Given the description of an element on the screen output the (x, y) to click on. 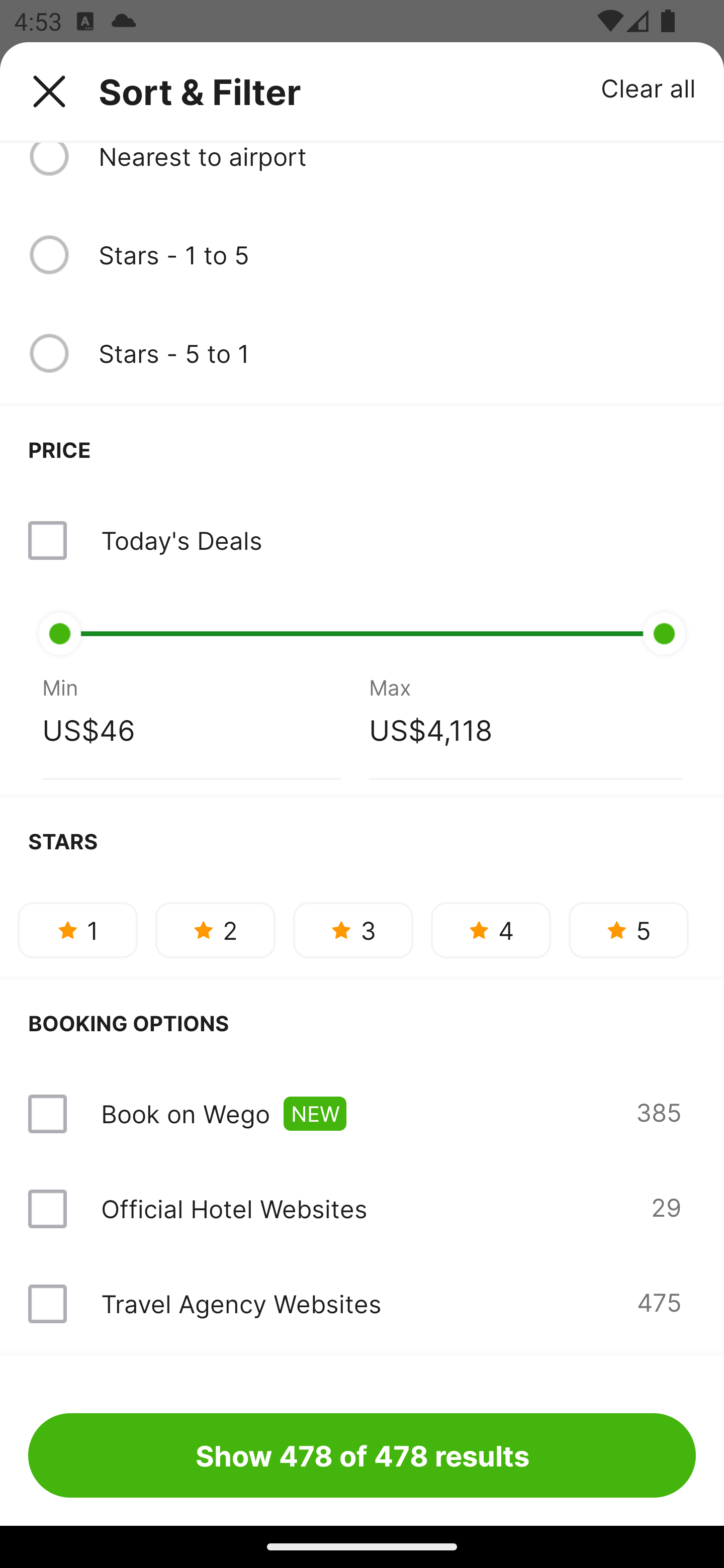
Clear all (648, 87)
Nearest to airport (396, 158)
Stars - 1 to 5 (396, 254)
Stars - 5 to 1 (396, 353)
Today's Deals (362, 540)
Today's Deals (181, 540)
1 (77, 929)
2 (214, 929)
3 (352, 929)
4 (491, 929)
5 (627, 929)
Book on Wego NEW 385 (362, 1113)
Book on Wego (184, 1113)
Official Hotel Websites 29 (362, 1208)
Official Hotel Websites (233, 1208)
Travel Agency Websites 475 (362, 1303)
Travel Agency Websites (240, 1303)
Show 478 of 478 results (361, 1454)
